Given the description of an element on the screen output the (x, y) to click on. 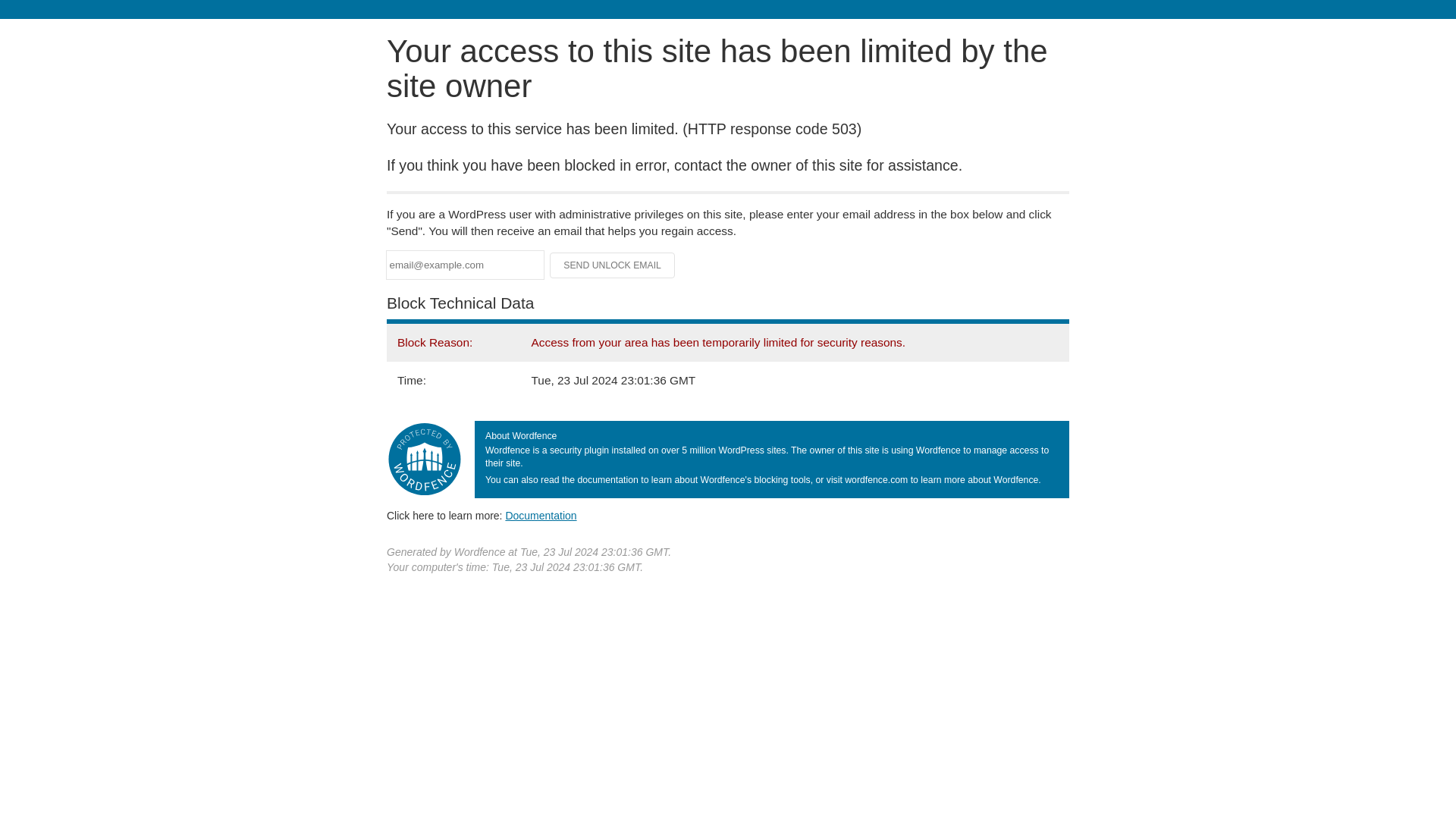
Documentation (540, 515)
Send Unlock Email (612, 265)
Send Unlock Email (612, 265)
